Given the description of an element on the screen output the (x, y) to click on. 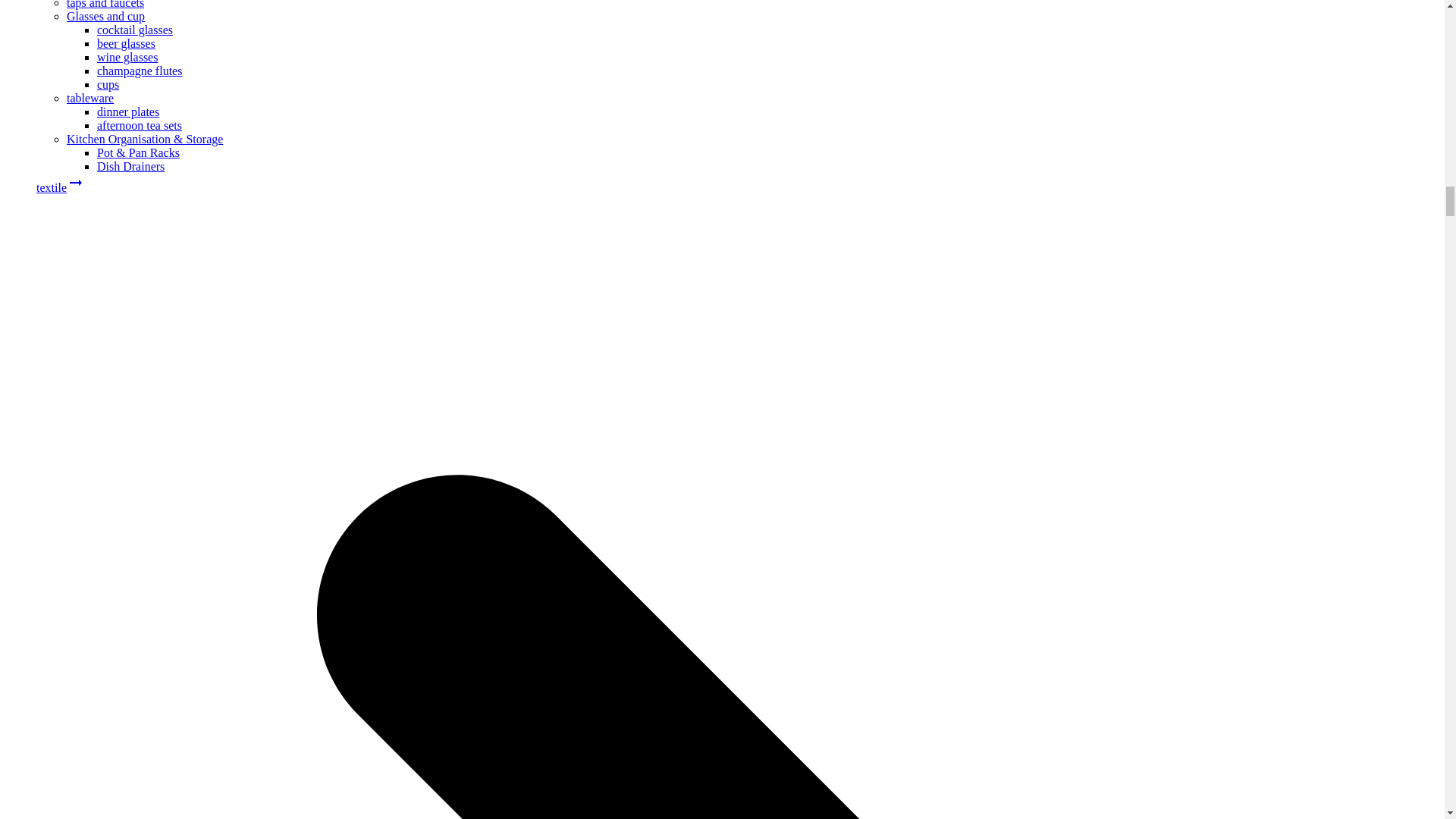
Glasses and cup (105, 15)
afternoon tea sets (139, 124)
cups (108, 83)
champagne flutes (139, 70)
taps and faucets (105, 4)
dinner plates (127, 111)
beer glasses (126, 42)
tableware (89, 97)
cocktail glasses (135, 29)
wine glasses (127, 56)
Dish Drainers (130, 165)
